Given the description of an element on the screen output the (x, y) to click on. 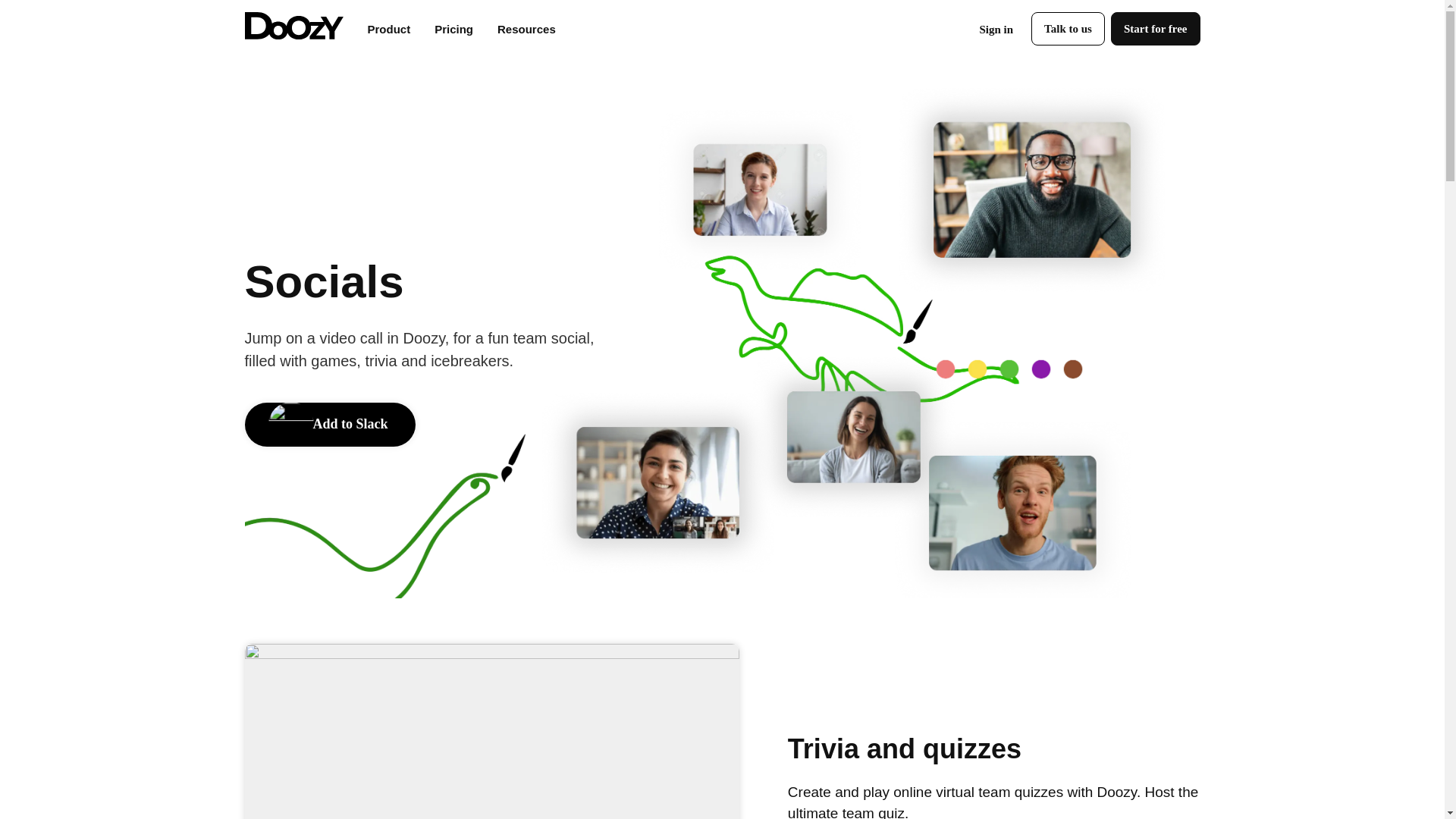
Start for free (1154, 28)
Talk to us (1067, 28)
Sign in (995, 29)
Pricing (453, 29)
Add to Slack (329, 424)
